Given the description of an element on the screen output the (x, y) to click on. 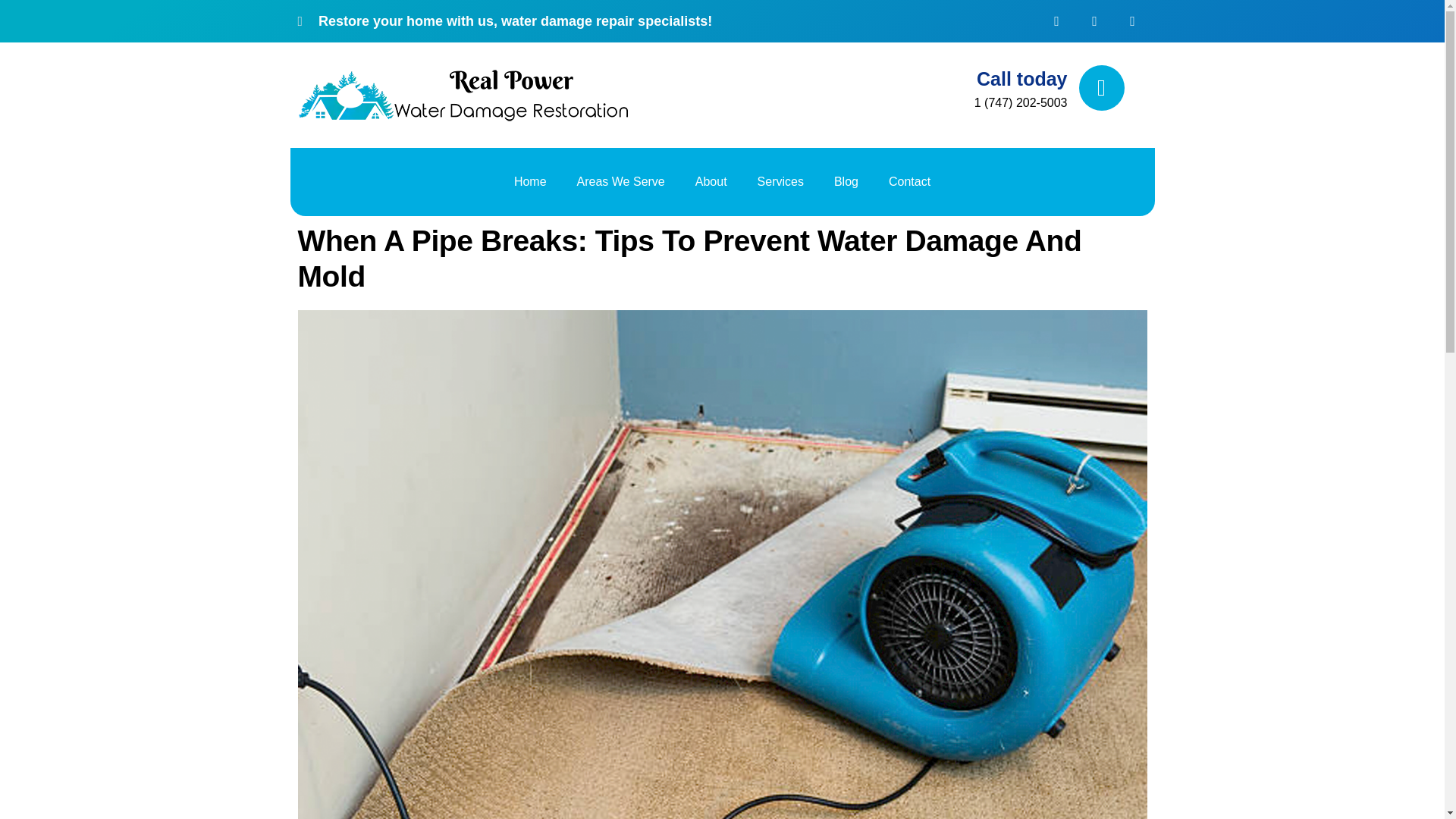
Call today (1021, 78)
Areas We Serve (620, 181)
Services (780, 181)
Contact (908, 181)
Blog (845, 181)
Home (530, 181)
About (710, 181)
